Given the description of an element on the screen output the (x, y) to click on. 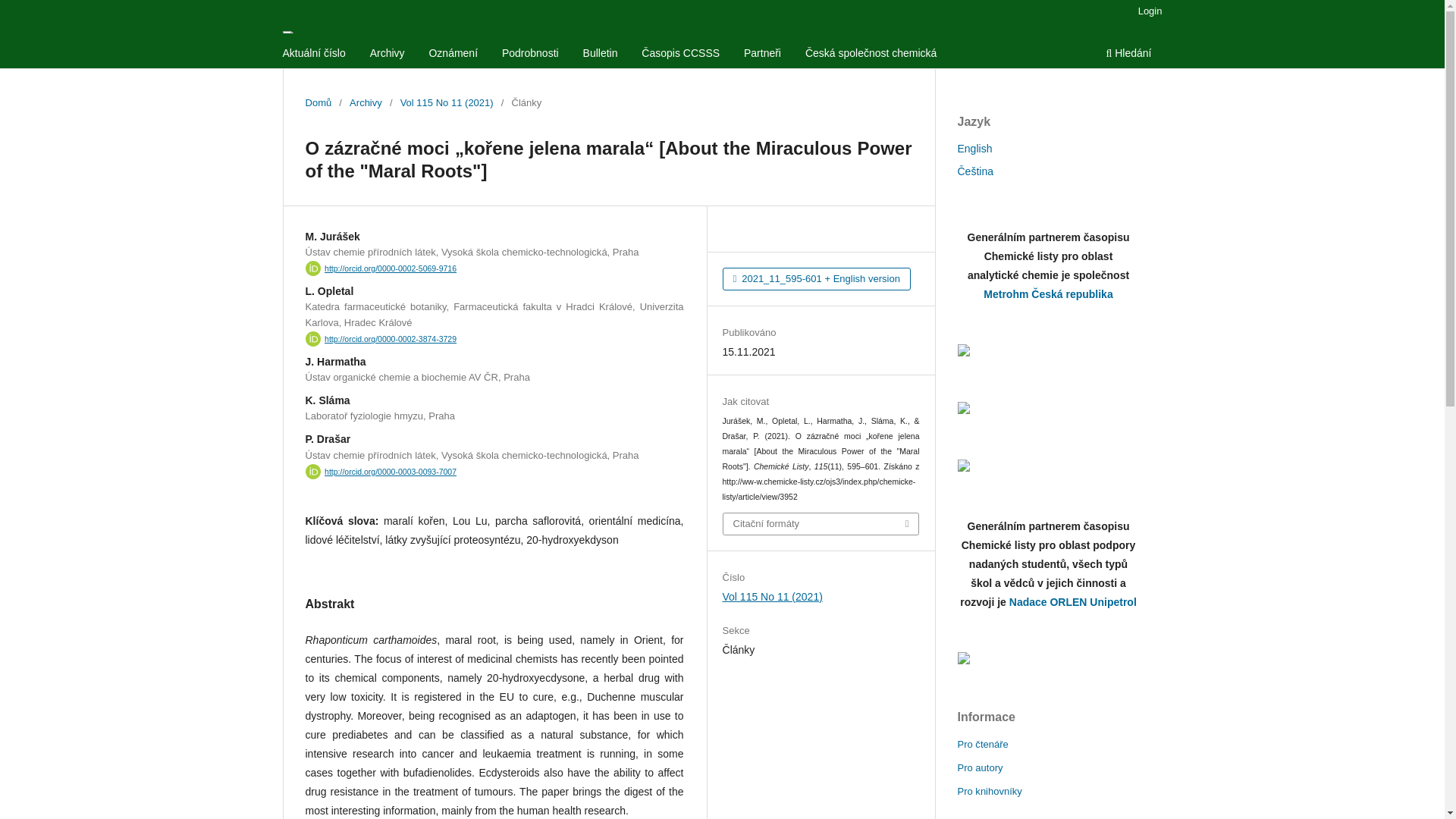
Archivy (365, 102)
Bulletin (600, 54)
Nadace ORLEN Unipetrol (1047, 657)
Nadace ORLEN Unipetrol (1073, 602)
Login (1150, 11)
Archivy (387, 54)
Podrobnosti (530, 54)
